Given the description of an element on the screen output the (x, y) to click on. 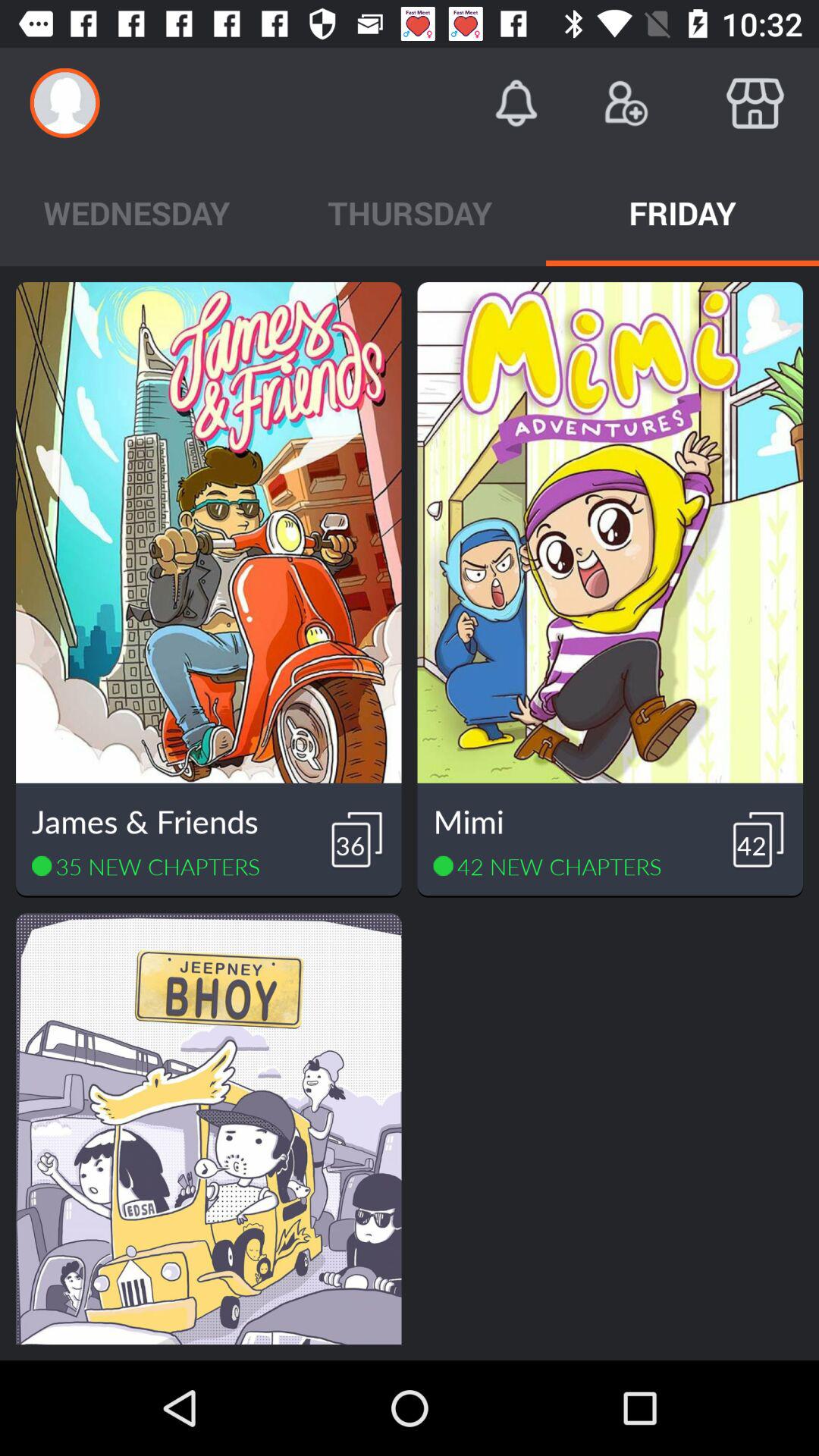
swipe until thursday (409, 212)
